Given the description of an element on the screen output the (x, y) to click on. 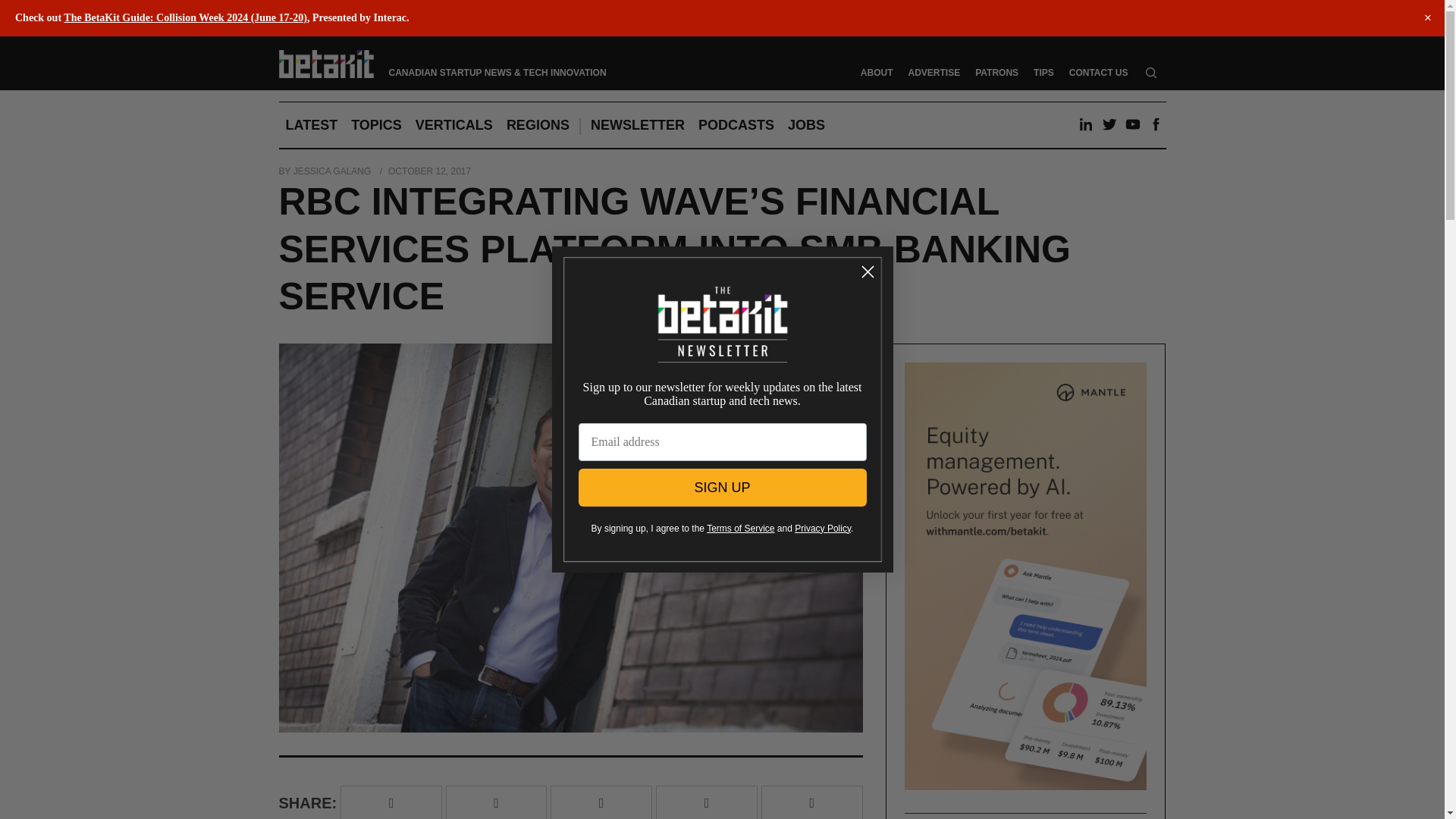
JOBS (805, 125)
ADVERTISE (933, 72)
REGIONS (537, 125)
NEWSLETTER (637, 125)
LATEST (312, 125)
PODCASTS (735, 125)
TOPICS (376, 125)
PATRONS (997, 72)
ABOUT (877, 72)
Posts by Jessica Galang (332, 171)
TIPS (1043, 72)
VERTICALS (454, 125)
CONTACT US (1098, 72)
